Given the description of an element on the screen output the (x, y) to click on. 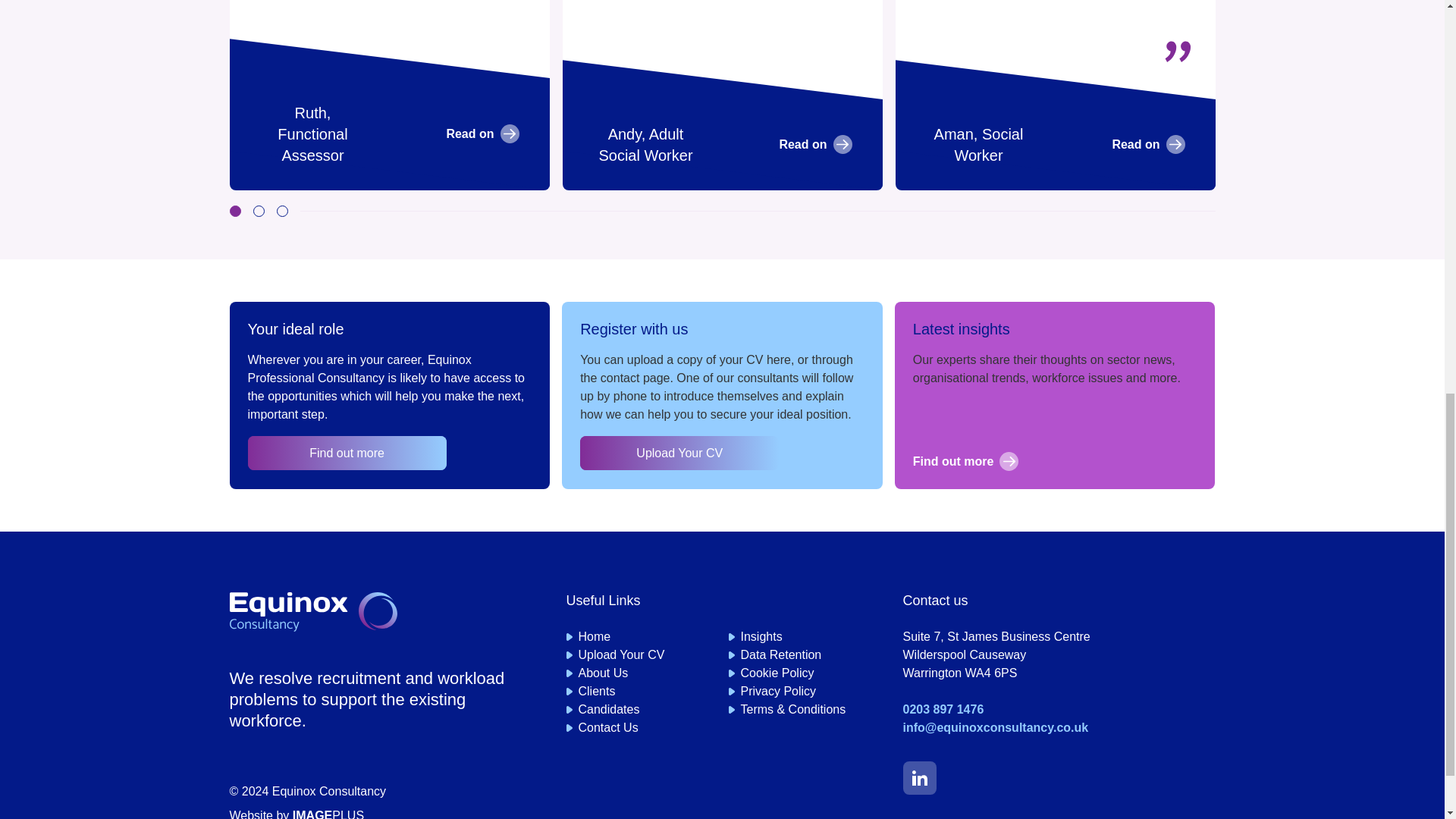
Find out more about Latest insights (1054, 461)
Go to Equinox Consultancy homepage (312, 610)
Read on (481, 133)
Go to Equinox Consultancy's  (919, 777)
Read on (1148, 144)
Read on (814, 144)
Find out more about Your ideal role (346, 452)
Read on (814, 144)
Upload Your CV about Register with us (678, 452)
Read on (1148, 144)
Read on (481, 133)
